Given the description of an element on the screen output the (x, y) to click on. 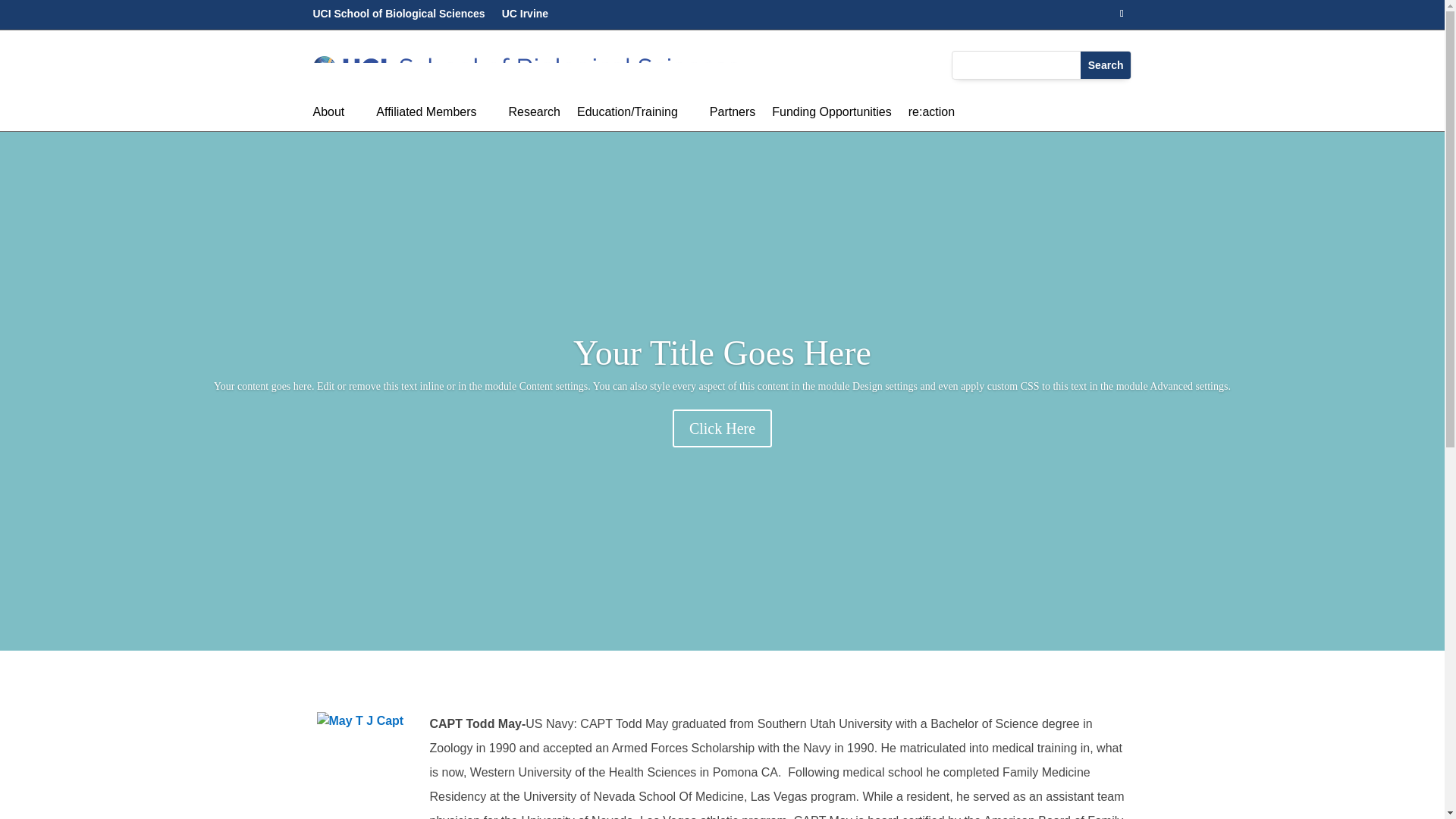
UCI School of Biological Sciences (398, 16)
About (336, 115)
re:action (931, 115)
UC Irvine (525, 16)
Search (1105, 64)
Click Here (721, 474)
Follow on Facebook (1121, 13)
Search (1105, 64)
Funding Opportunities (831, 115)
Affiliated Members (433, 115)
